Given the description of an element on the screen output the (x, y) to click on. 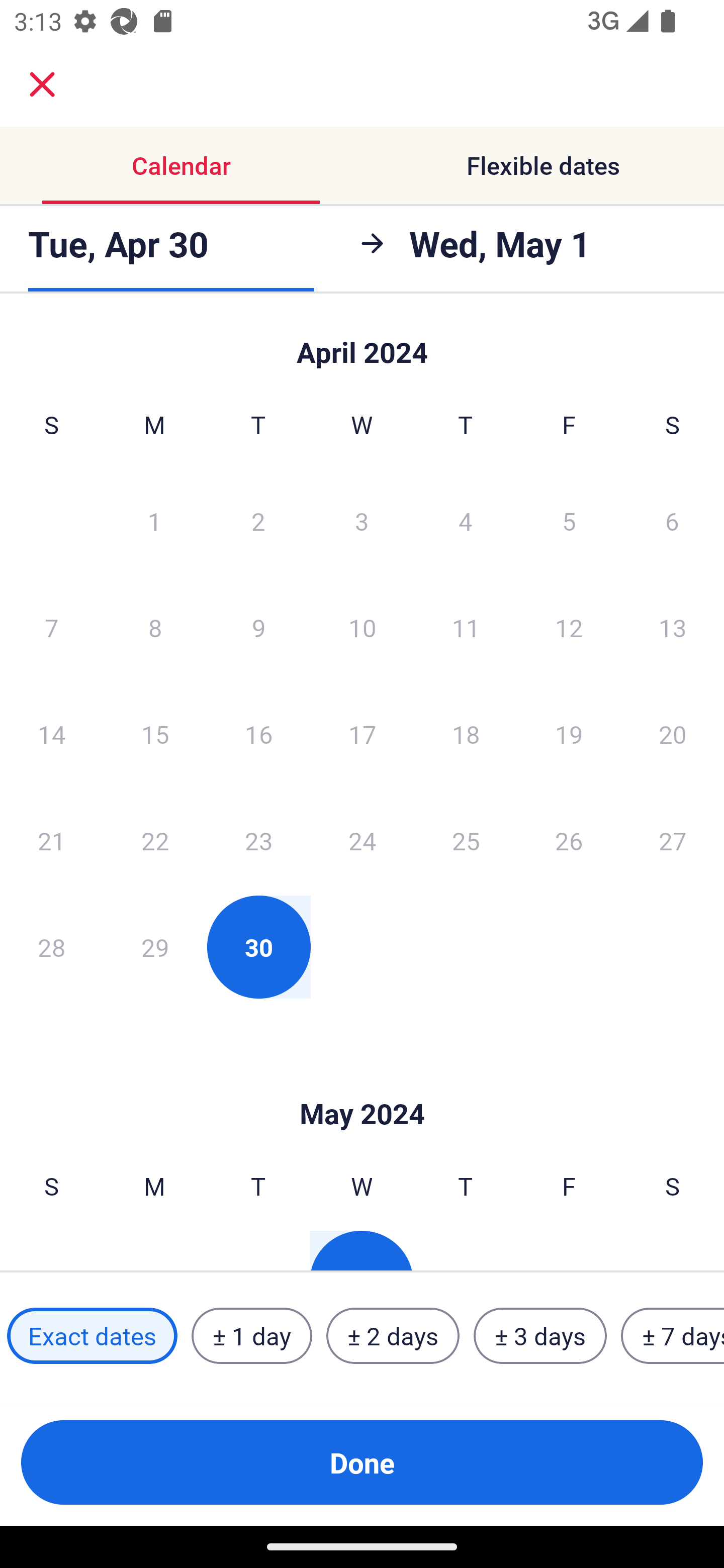
close. (42, 84)
Flexible dates (542, 164)
Skip to Done (362, 343)
1 Monday, April 1, 2024 (154, 520)
2 Tuesday, April 2, 2024 (257, 520)
3 Wednesday, April 3, 2024 (361, 520)
4 Thursday, April 4, 2024 (465, 520)
5 Friday, April 5, 2024 (568, 520)
6 Saturday, April 6, 2024 (672, 520)
7 Sunday, April 7, 2024 (51, 626)
8 Monday, April 8, 2024 (155, 626)
9 Tuesday, April 9, 2024 (258, 626)
10 Wednesday, April 10, 2024 (362, 626)
11 Thursday, April 11, 2024 (465, 626)
12 Friday, April 12, 2024 (569, 626)
13 Saturday, April 13, 2024 (672, 626)
14 Sunday, April 14, 2024 (51, 733)
15 Monday, April 15, 2024 (155, 733)
16 Tuesday, April 16, 2024 (258, 733)
17 Wednesday, April 17, 2024 (362, 733)
18 Thursday, April 18, 2024 (465, 733)
19 Friday, April 19, 2024 (569, 733)
20 Saturday, April 20, 2024 (672, 733)
21 Sunday, April 21, 2024 (51, 840)
22 Monday, April 22, 2024 (155, 840)
23 Tuesday, April 23, 2024 (258, 840)
24 Wednesday, April 24, 2024 (362, 840)
25 Thursday, April 25, 2024 (465, 840)
26 Friday, April 26, 2024 (569, 840)
27 Saturday, April 27, 2024 (672, 840)
28 Sunday, April 28, 2024 (51, 946)
29 Monday, April 29, 2024 (155, 946)
Skip to Done (362, 1083)
Exact dates (92, 1335)
± 1 day (251, 1335)
± 2 days (392, 1335)
± 3 days (539, 1335)
± 7 days (672, 1335)
Done (361, 1462)
